Given the description of an element on the screen output the (x, y) to click on. 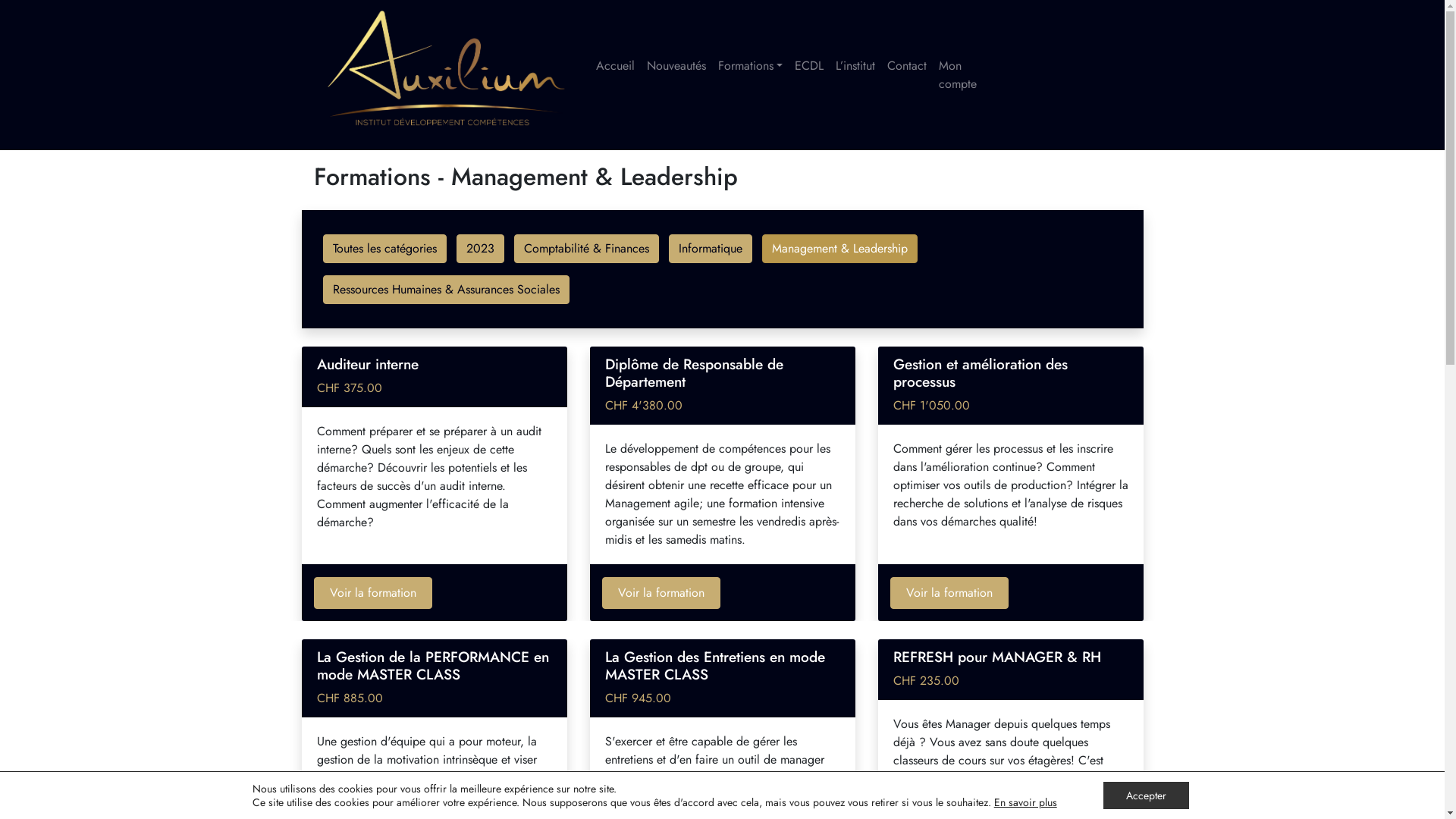
Accepter Element type: text (1146, 795)
Voir la formation Element type: text (372, 592)
Management & Leadership Element type: text (838, 248)
Mon compte Element type: text (965, 74)
ECDL Element type: text (808, 65)
Informatique Element type: text (710, 248)
Formations Element type: text (749, 65)
2023 Element type: text (480, 248)
Voir la formation Element type: text (949, 592)
Ressources Humaines & Assurances Sociales Element type: text (446, 289)
En savoir plus Element type: text (1025, 801)
Contact Element type: text (906, 65)
Accueil Element type: text (614, 65)
Voir la formation Element type: text (661, 592)
